Given the description of an element on the screen output the (x, y) to click on. 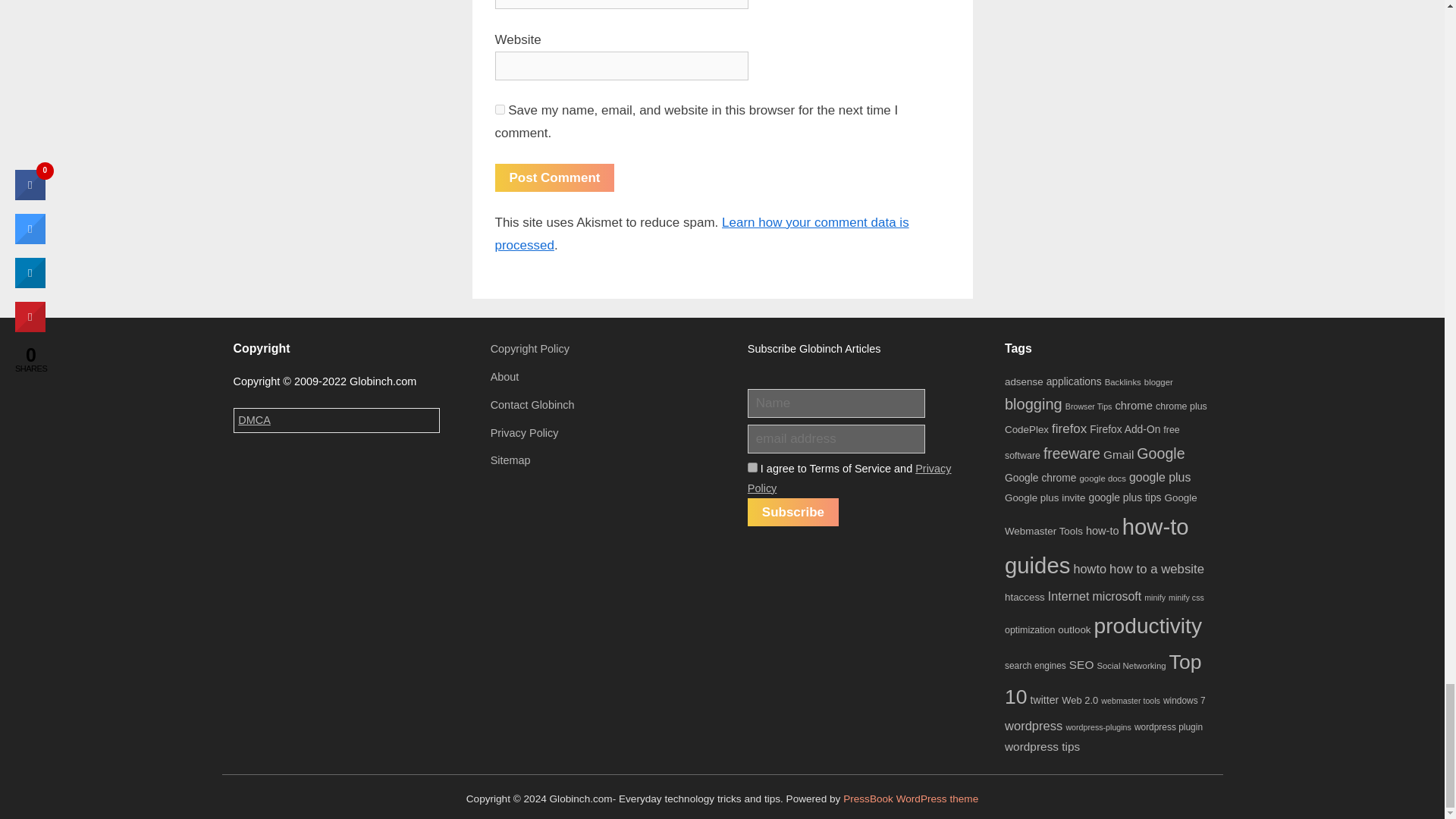
true (752, 467)
Post Comment (554, 177)
Subscribe (793, 511)
yes (499, 109)
